Given the description of an element on the screen output the (x, y) to click on. 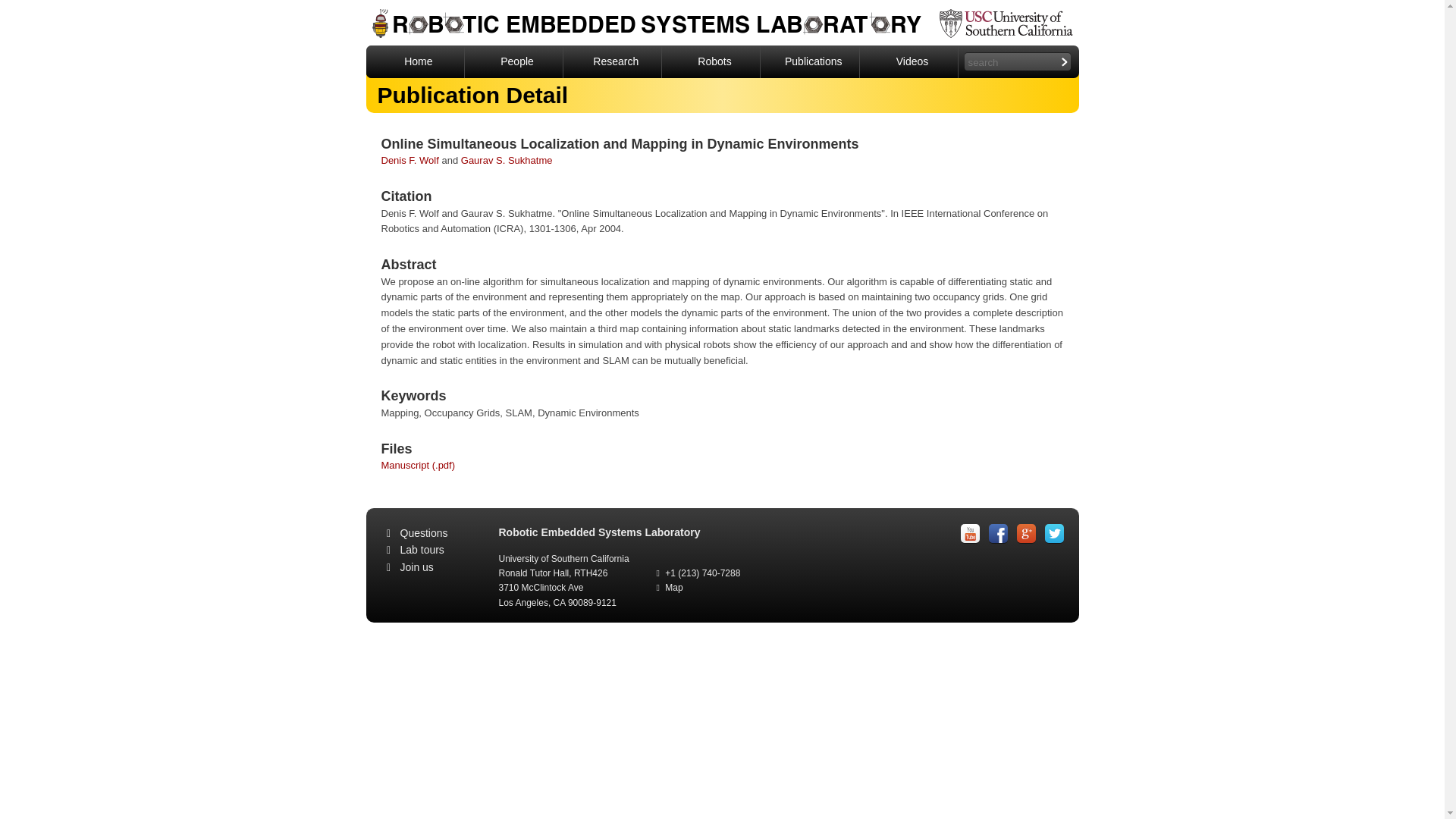
People (513, 61)
Home (414, 61)
Map (673, 587)
Research (612, 61)
Denis F. Wolf (409, 160)
Questions (424, 532)
Lab tours (422, 549)
Join us (416, 567)
Gaurav S. Sukhatme (507, 160)
